Given the description of an element on the screen output the (x, y) to click on. 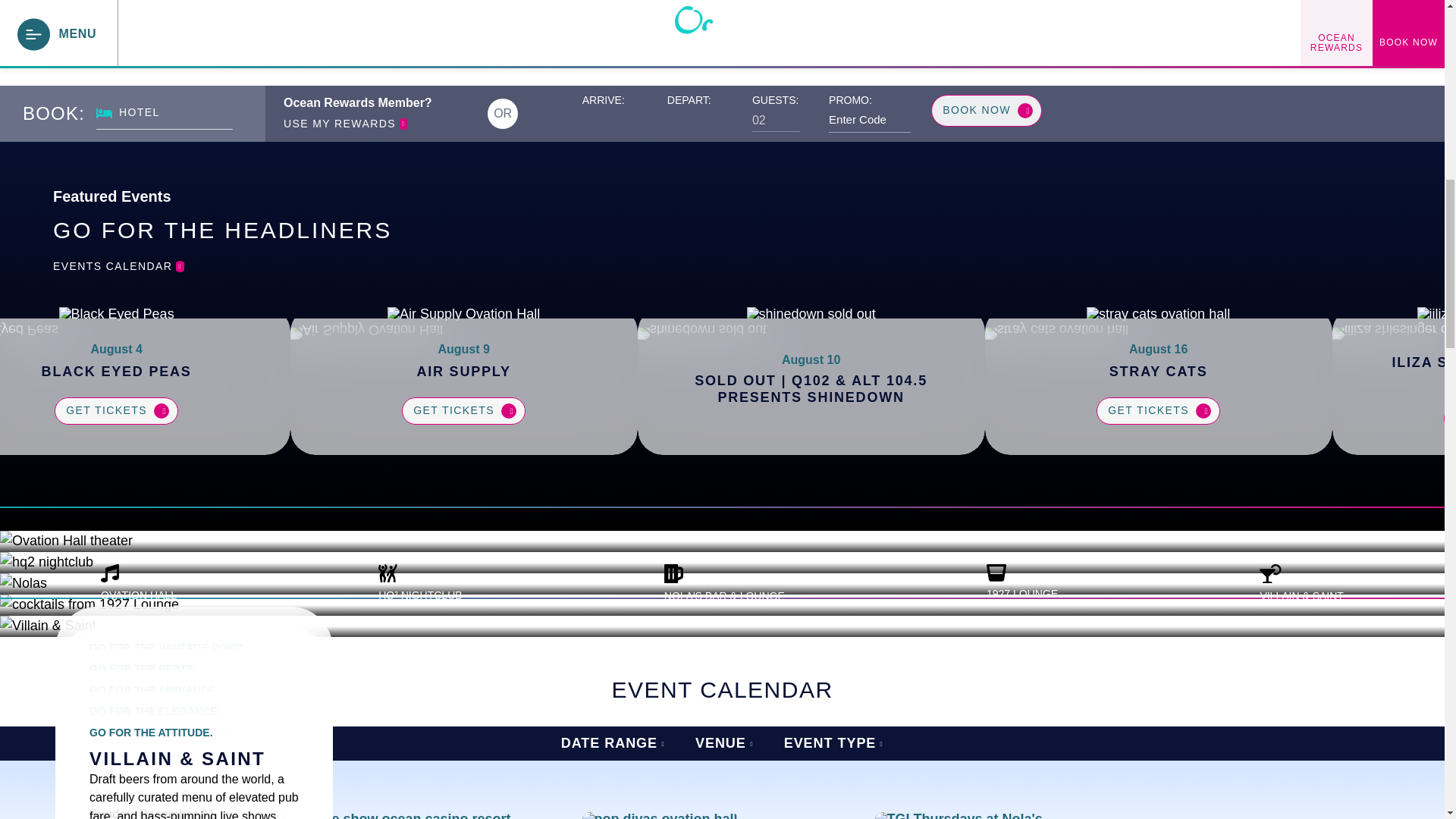
Go (311, 815)
